Given the description of an element on the screen output the (x, y) to click on. 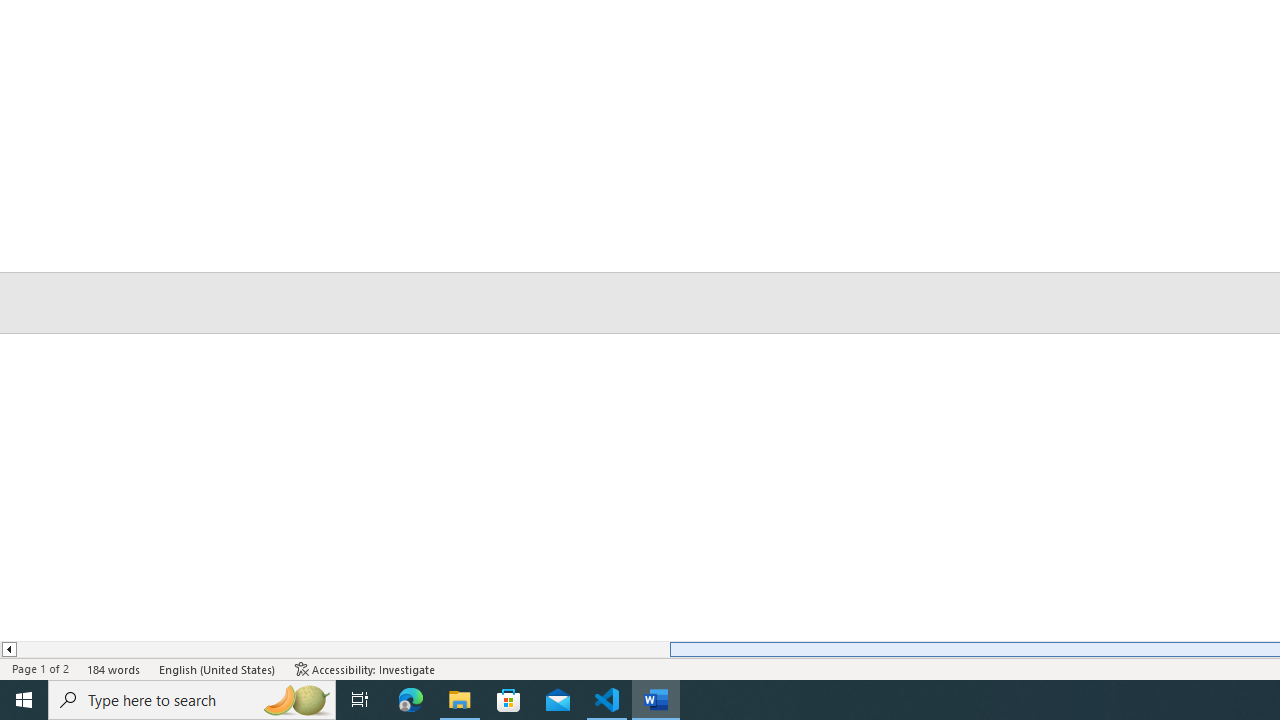
Column left (8, 649)
Page Number Page 1 of 2 (39, 668)
Accessibility Checker Accessibility: Investigate (365, 668)
Page left (342, 649)
Language English (United States) (218, 668)
